Given the description of an element on the screen output the (x, y) to click on. 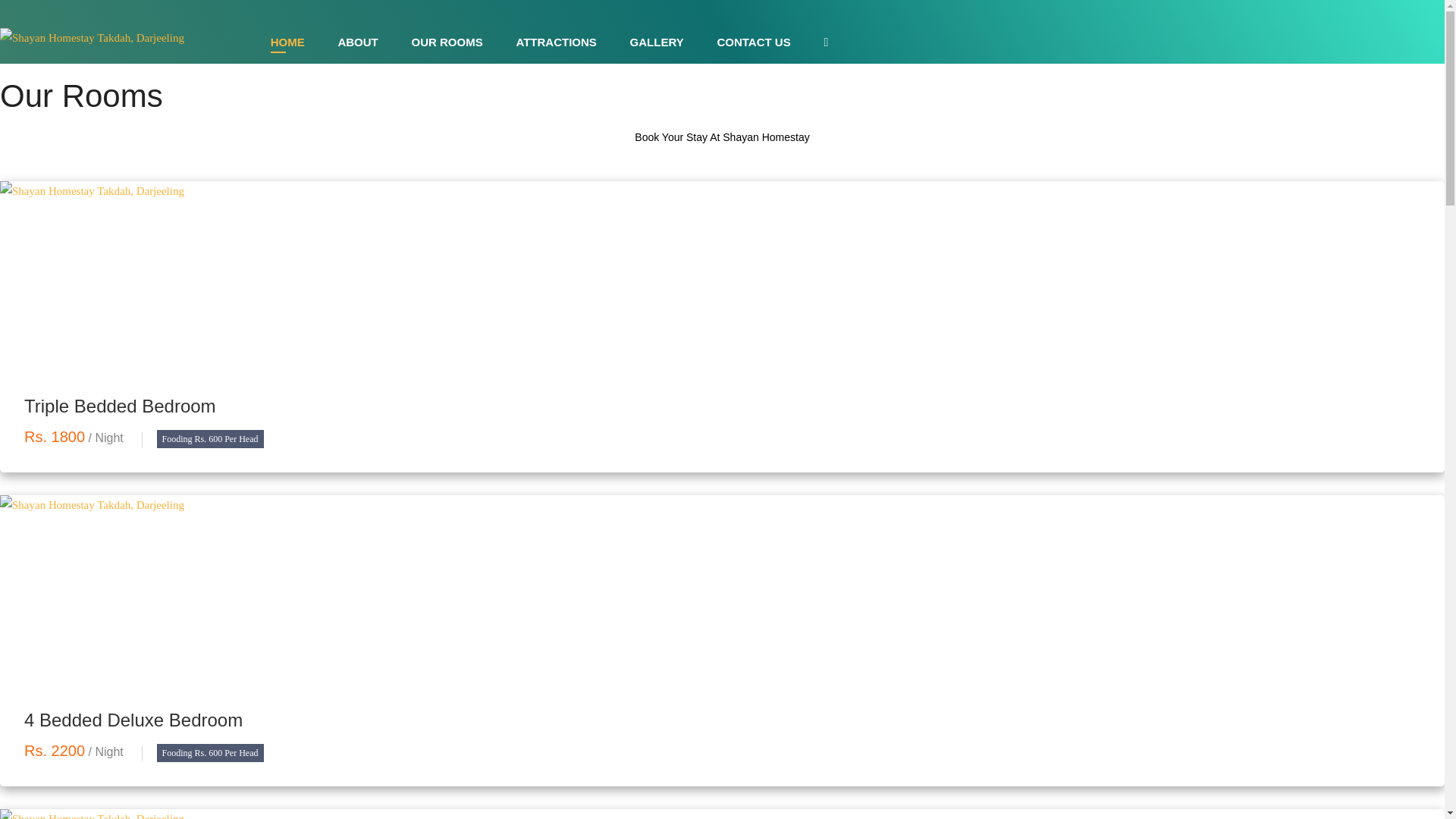
HOME (287, 46)
CONTACT US (753, 46)
OUR ROOMS (447, 46)
ABOUT (357, 46)
GALLERY (657, 46)
ATTRACTIONS (555, 46)
